Given the description of an element on the screen output the (x, y) to click on. 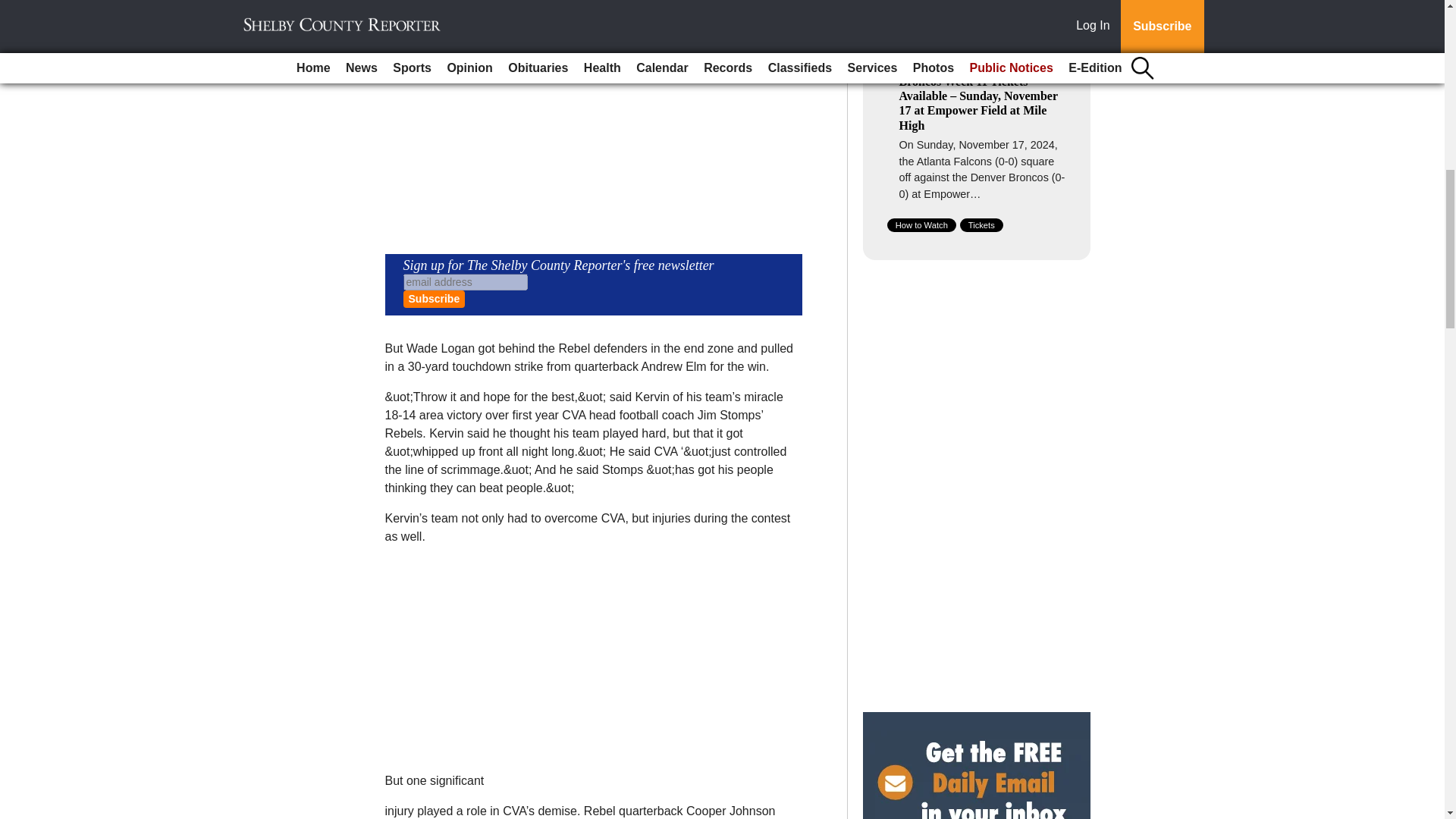
Subscribe (434, 298)
